Given the description of an element on the screen output the (x, y) to click on. 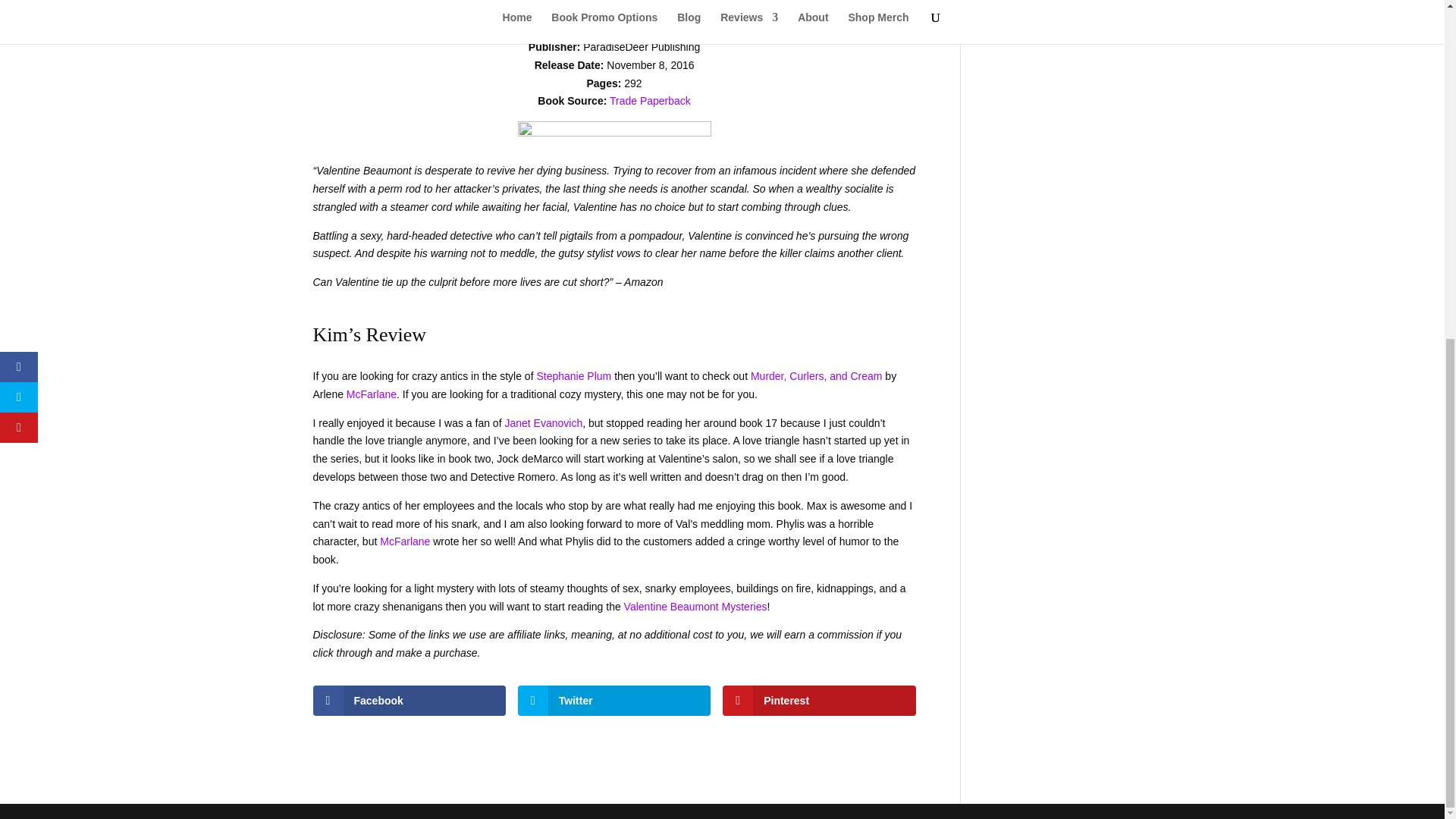
Valentine Beaumont Mysteries (695, 606)
Janet Evanovich (542, 422)
Stephanie Plum (573, 376)
Trade Paperback (650, 101)
McFarlane (371, 394)
Arlene McFarlane (634, 10)
Twitter (614, 700)
McFarlane (404, 541)
Murder, Curlers, and Cream (816, 376)
Facebook (409, 700)
